Given the description of an element on the screen output the (x, y) to click on. 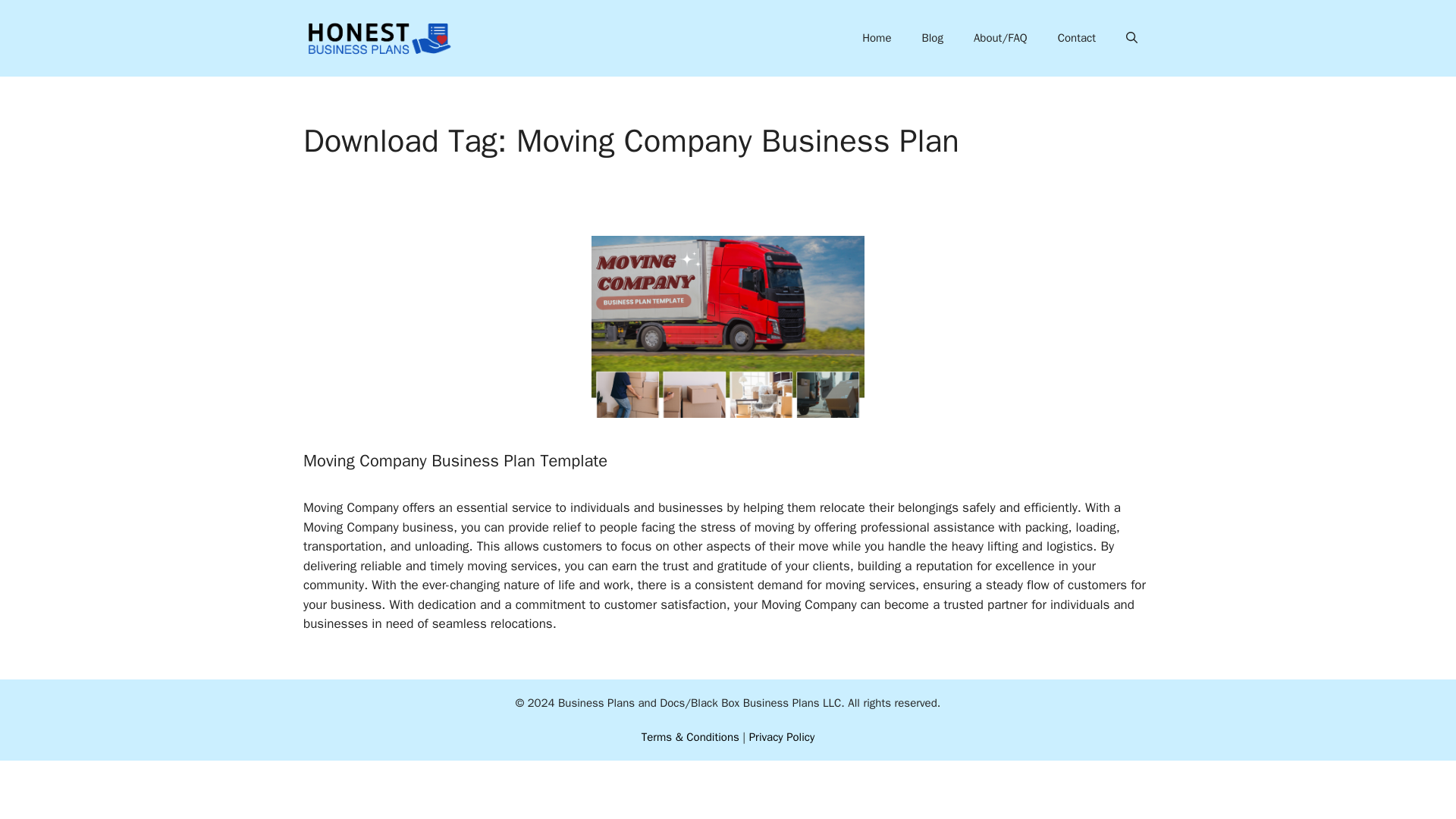
Moving Company Business Plan Template (454, 460)
Blog (931, 37)
Contact (1076, 37)
Home (876, 37)
Privacy Policy (782, 736)
